Given the description of an element on the screen output the (x, y) to click on. 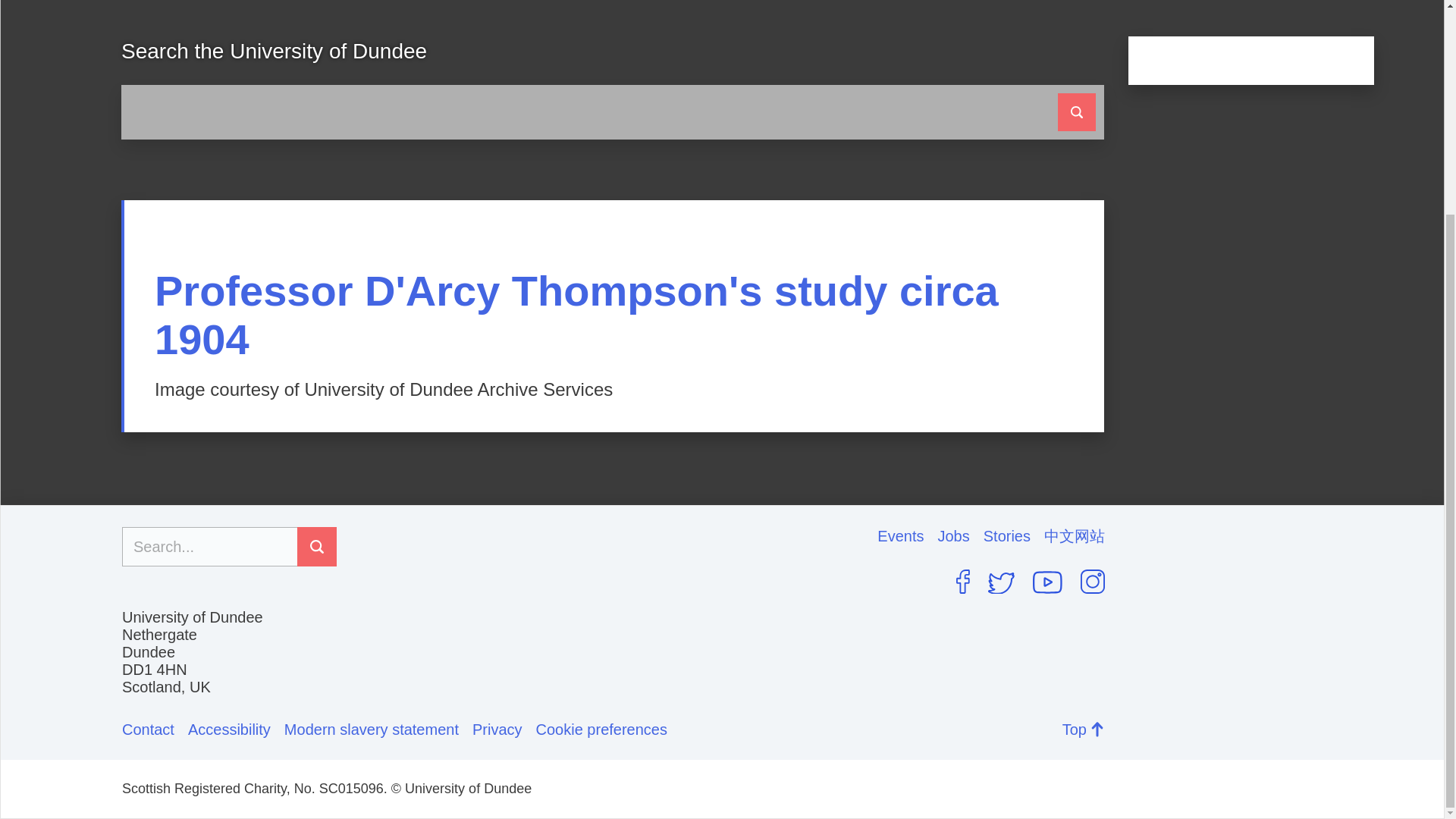
Youtube (1047, 581)
Explore our Chinese language website  (1074, 536)
Instagram (1092, 581)
Find events that are happening at the University of Dundee (907, 536)
Twitter (1001, 582)
